Given the description of an element on the screen output the (x, y) to click on. 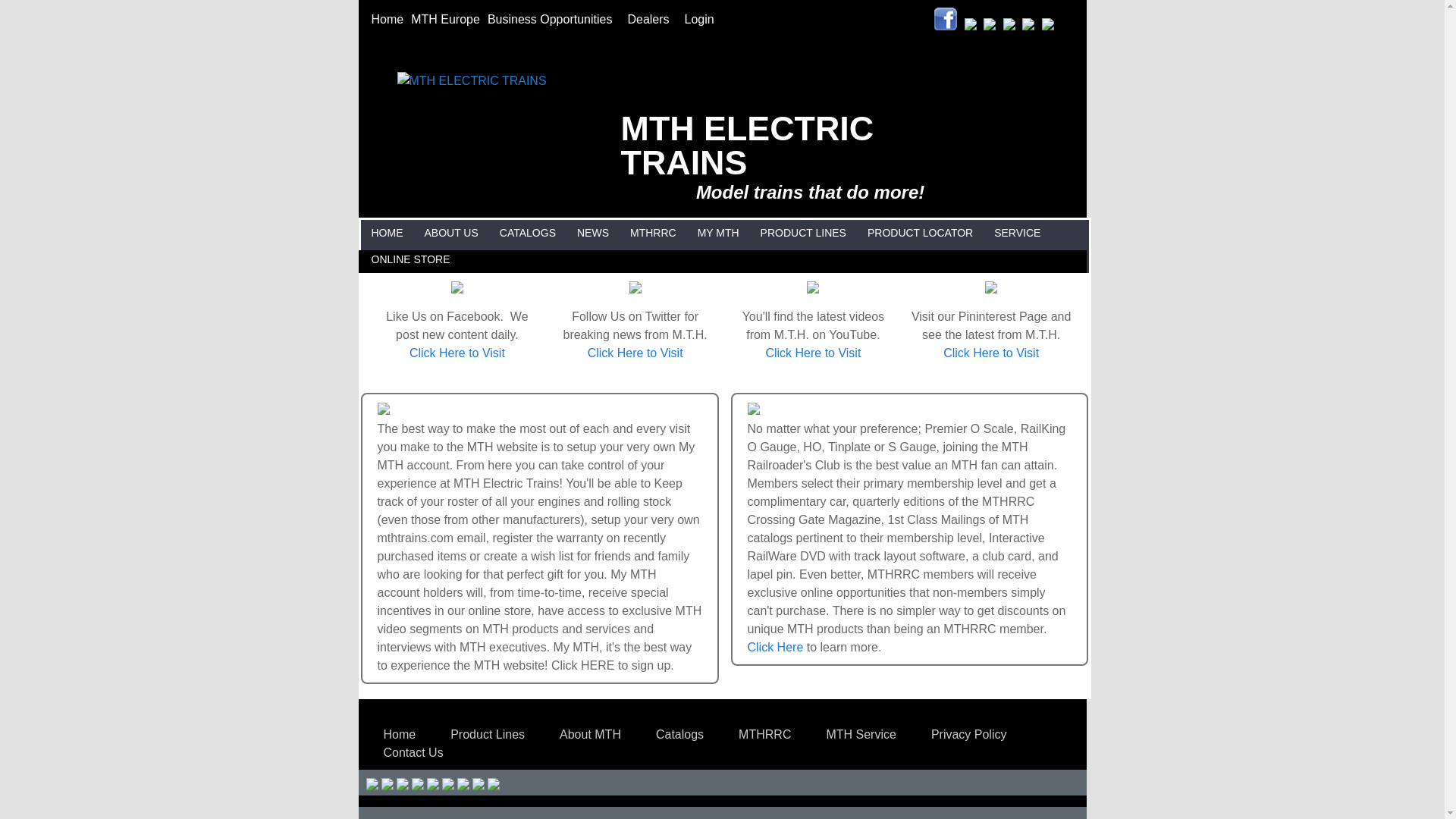
CATALOGS (527, 233)
Dealers (651, 19)
NEWS (593, 233)
MTHRRC (652, 233)
MTH Europe (445, 19)
ABOUT US (451, 233)
Home (386, 19)
Business Opportunities (553, 19)
Click Here to Visit (635, 352)
HOME (386, 233)
